Given the description of an element on the screen output the (x, y) to click on. 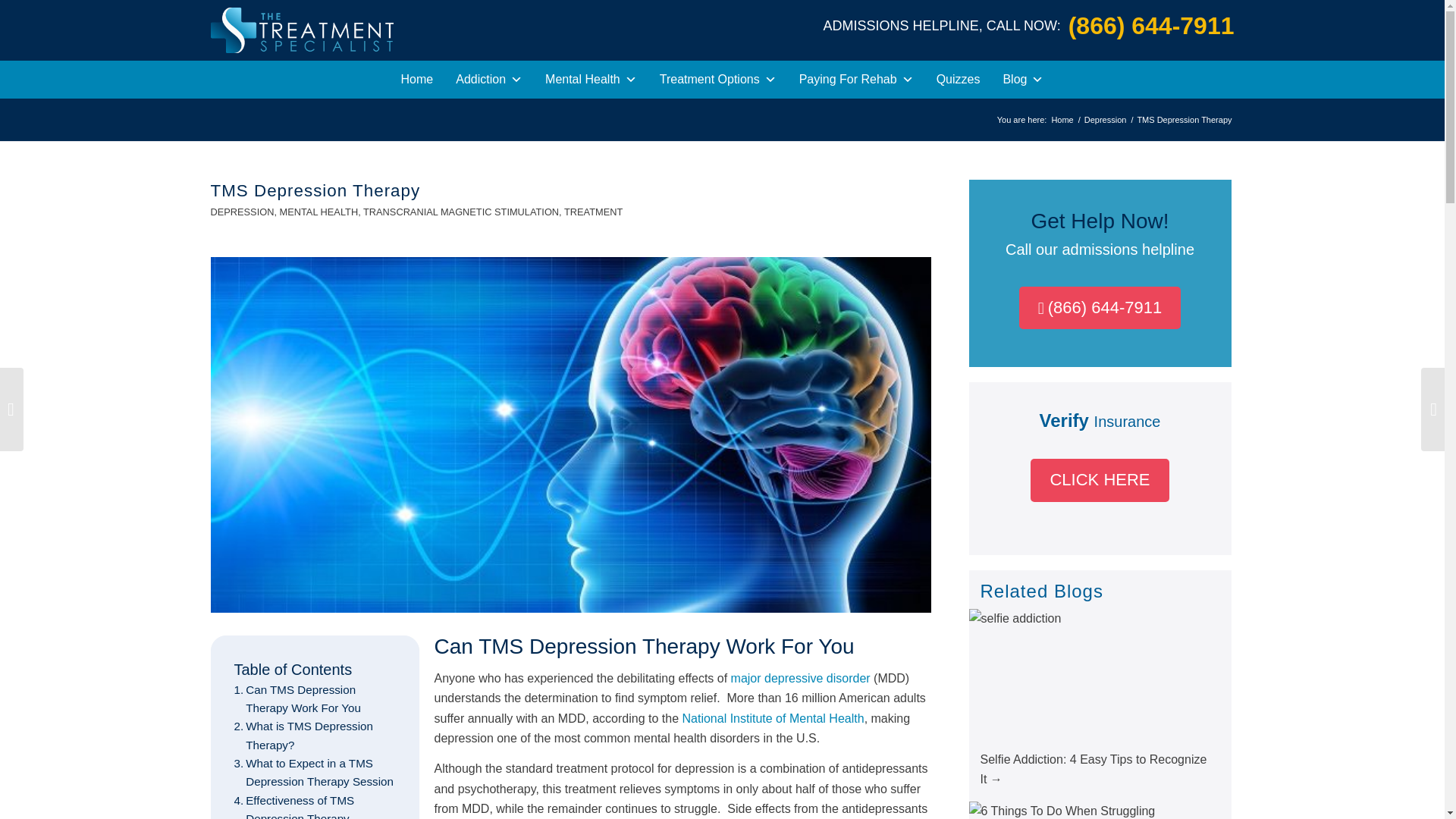
Can TMS Depression Therapy Work For You (313, 699)
Addiction (489, 79)
Mental Health (590, 79)
What to Expect in a TMS Depression Therapy Session (313, 772)
Effectiveness of TMS Depression Therapy (313, 805)
Home (417, 79)
The Treatment Specialist (1061, 120)
What is TMS Depression Therapy? (313, 735)
